Given the description of an element on the screen output the (x, y) to click on. 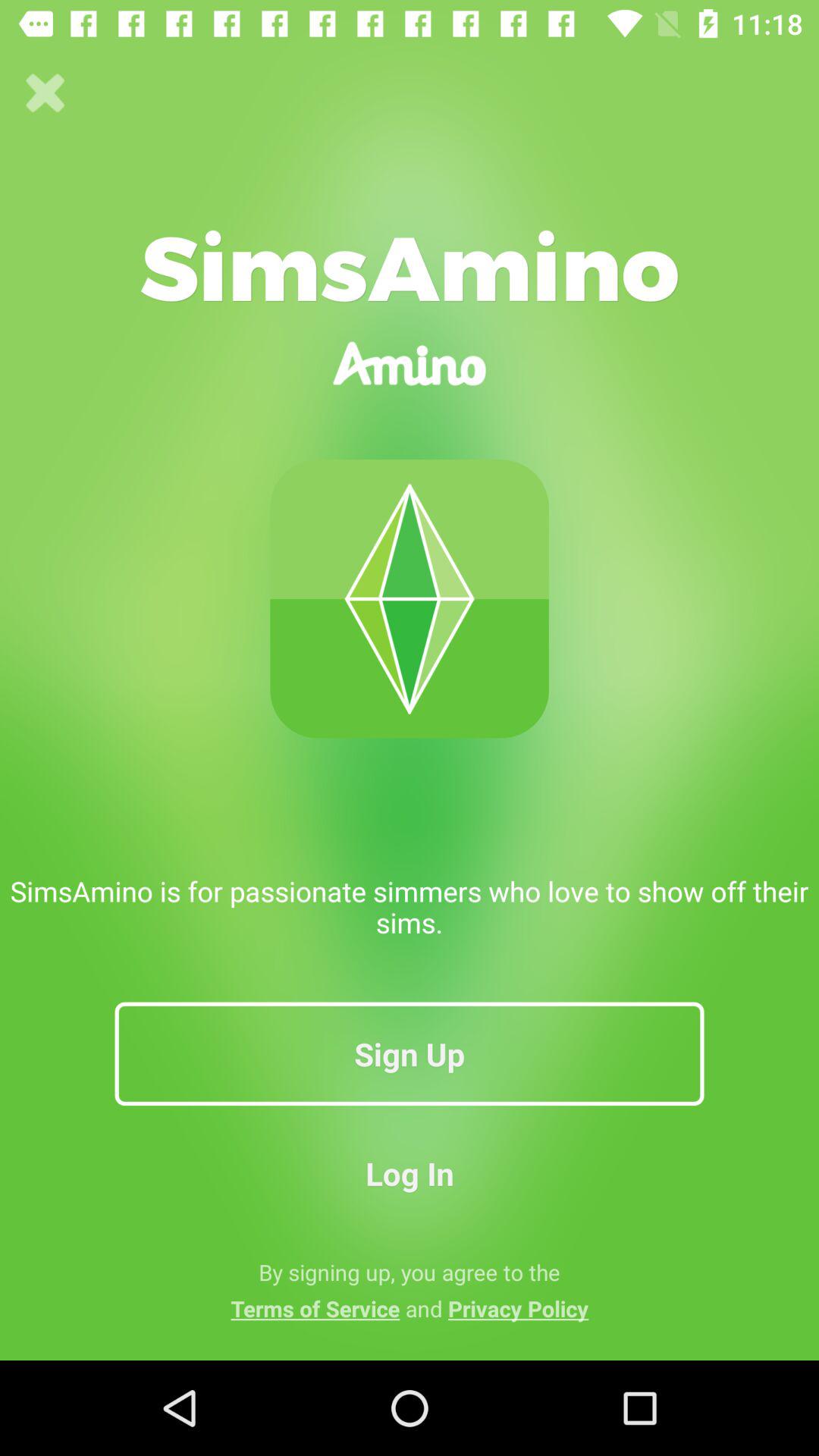
press the app below the by signing up icon (409, 1308)
